Given the description of an element on the screen output the (x, y) to click on. 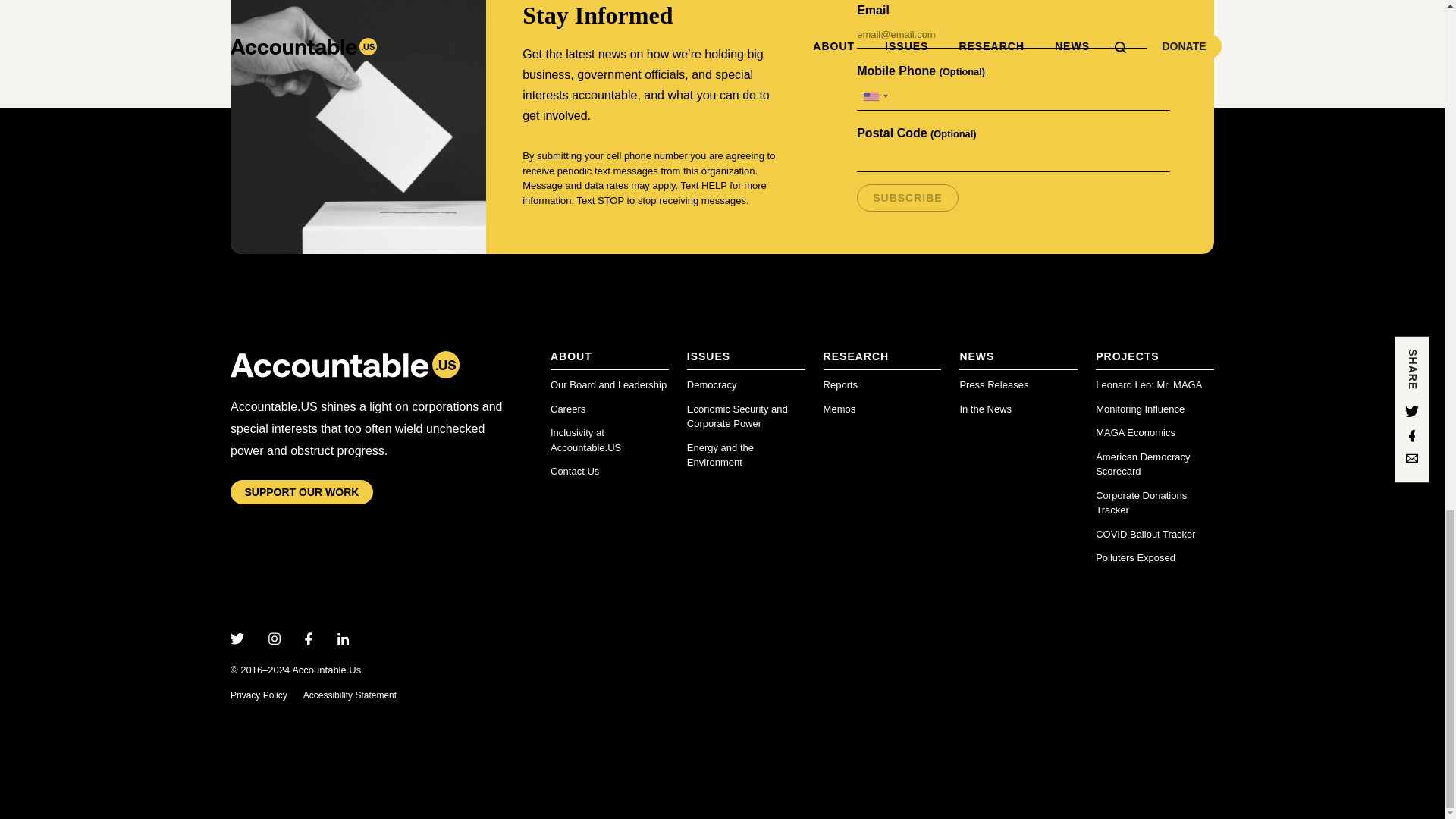
ABOUT (609, 360)
SUPPORT OUR WORK (301, 492)
Subscribe (907, 197)
Mobile Phone (1013, 95)
Postal Code (1013, 157)
Subscribe (907, 197)
